Given the description of an element on the screen output the (x, y) to click on. 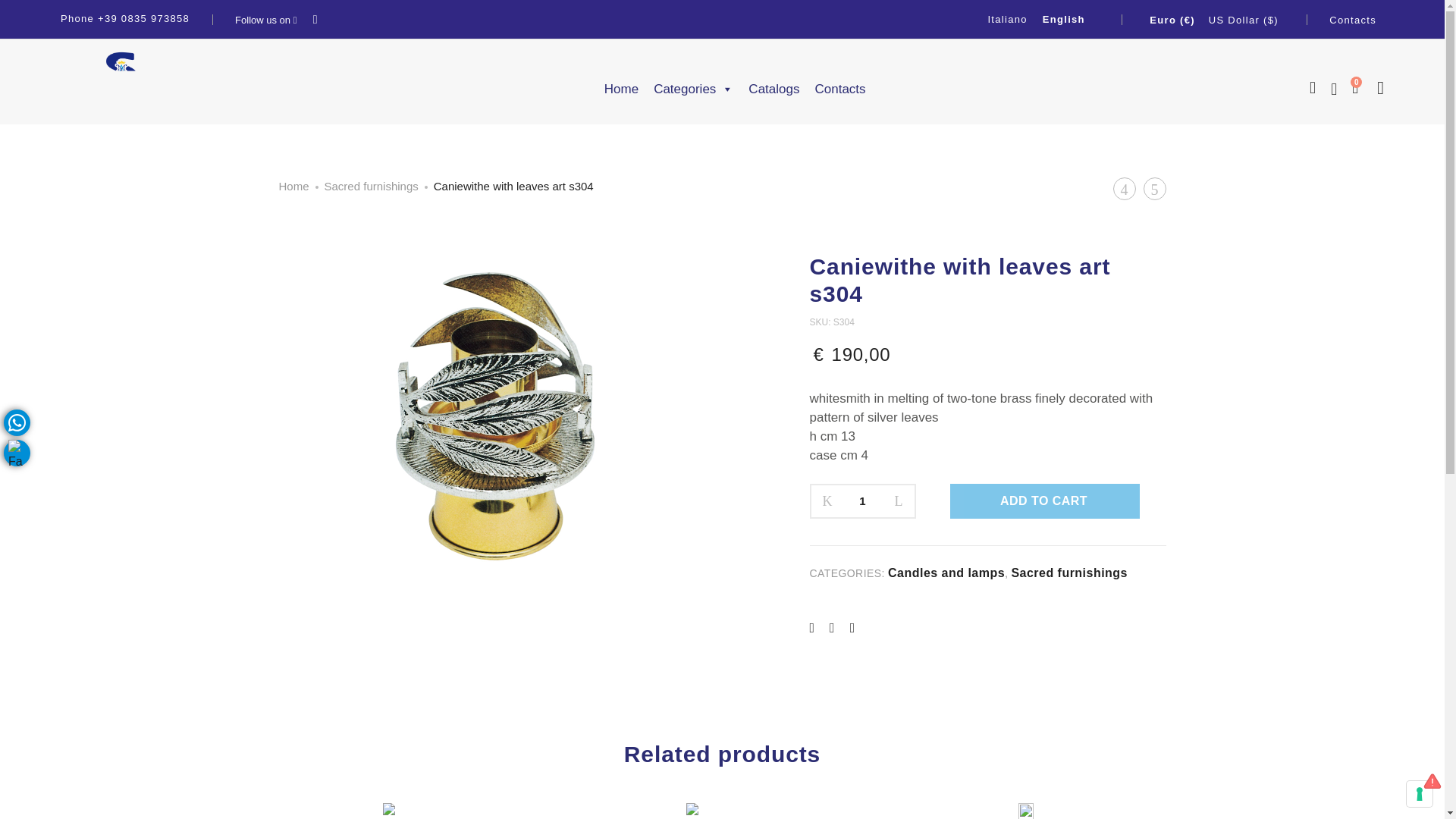
Contacts (1352, 20)
Home (621, 89)
1 (861, 500)
English (1064, 18)
Categories (693, 89)
Italiano (1006, 18)
Qty (861, 500)
